Given the description of an element on the screen output the (x, y) to click on. 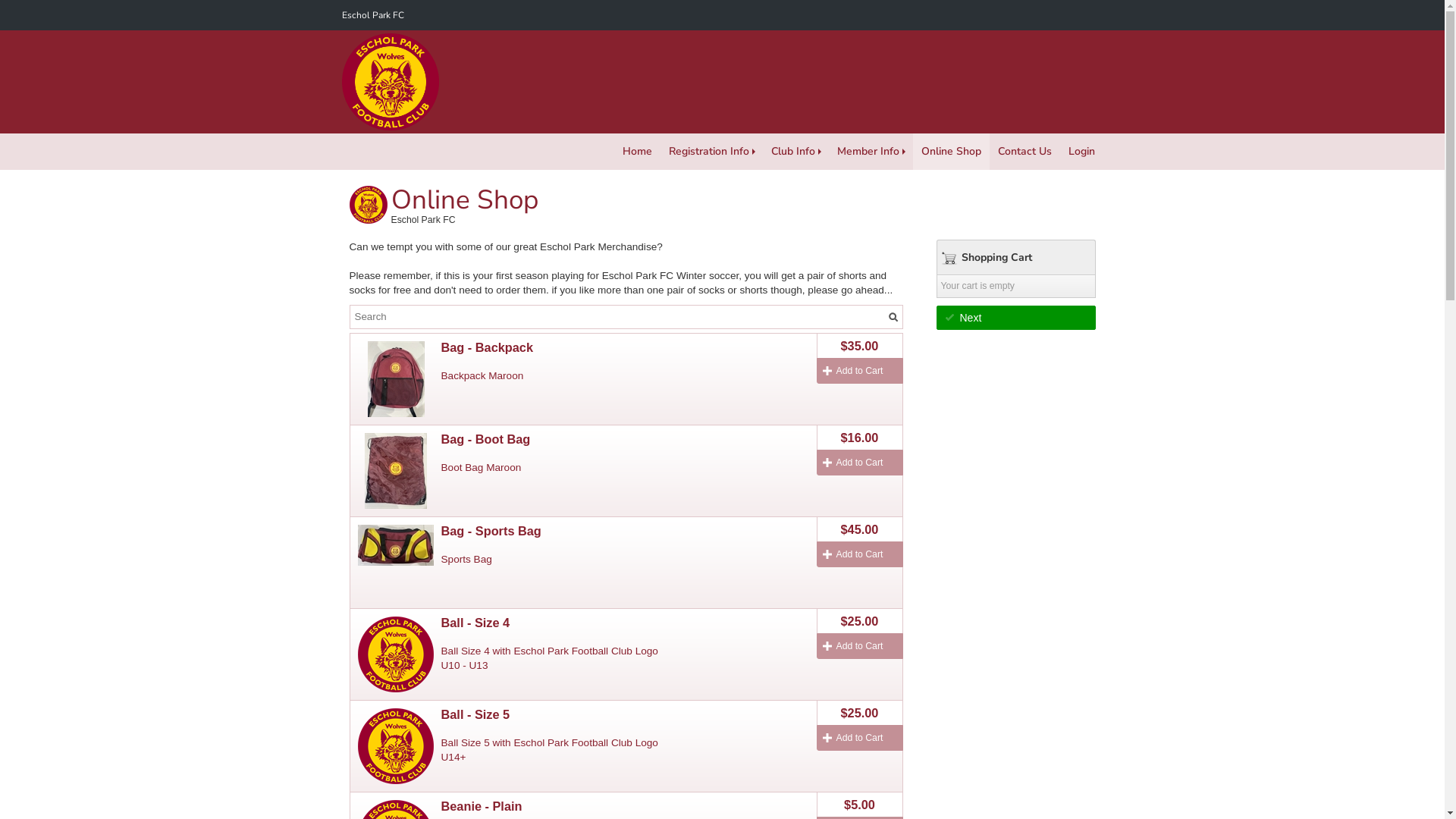
Add to Cart Element type: text (858, 554)
Add to Cart Element type: text (858, 370)
Next Element type: text (1015, 317)
Login Element type: text (1081, 151)
Add to Cart Element type: text (858, 737)
Add to Cart Element type: text (858, 645)
Add to Cart Element type: text (858, 462)
Club Info Element type: text (795, 151)
Contact Us Element type: text (1023, 151)
Member Info Element type: text (870, 151)
Eschol Park FC Element type: text (372, 15)
Registration Info Element type: text (710, 151)
Online Shop Element type: text (951, 151)
Home Element type: text (637, 151)
